Given the description of an element on the screen output the (x, y) to click on. 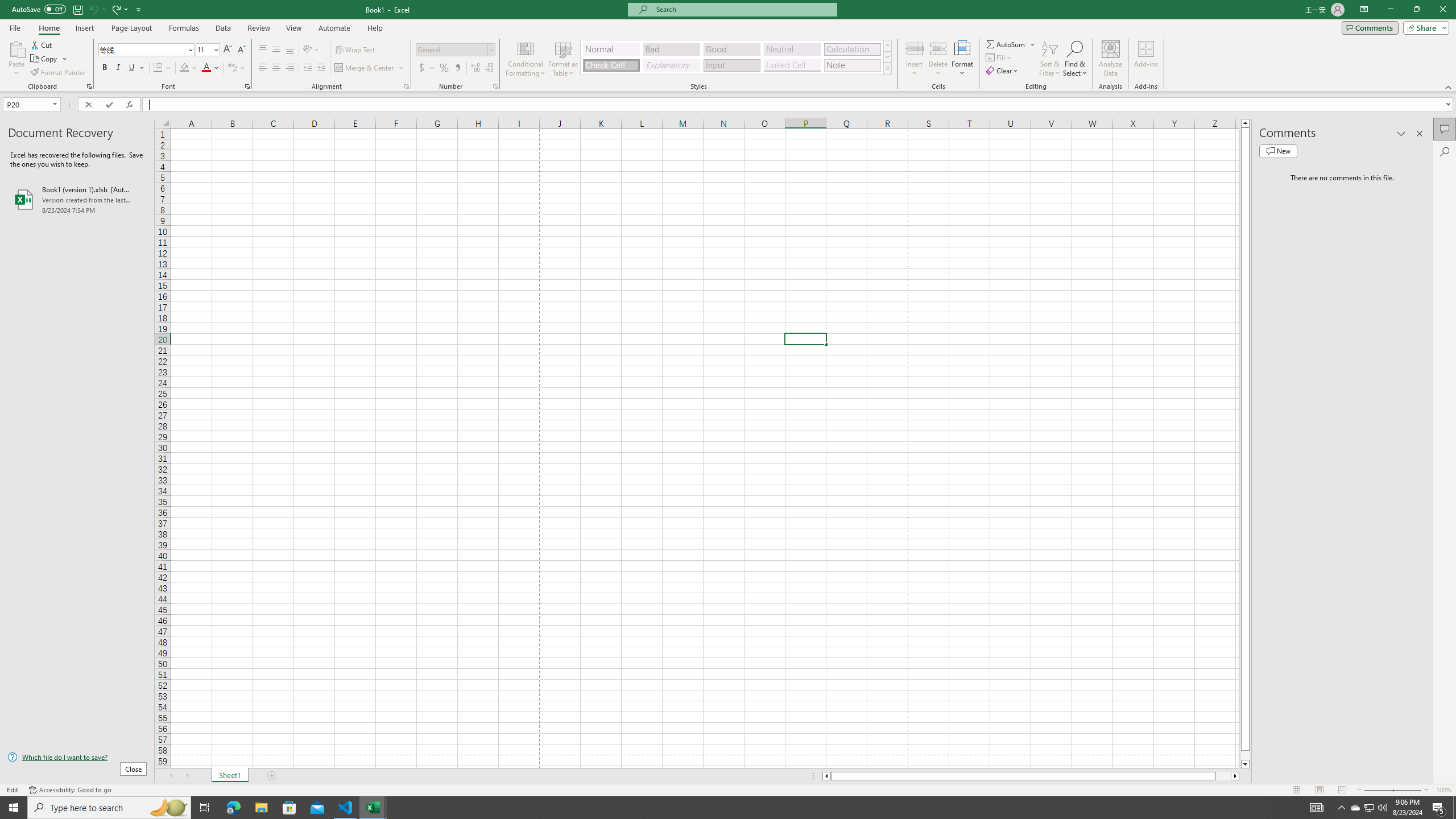
New comment (1278, 151)
Format Painter (58, 72)
Format Cell Alignment (405, 85)
Share (1423, 27)
More Options (1033, 44)
Class: NetUIImage (887, 68)
Copy (45, 58)
Restore Down (1416, 9)
Clear (1003, 69)
Column left (826, 775)
Comments (1369, 27)
Task Pane Options (1400, 133)
Search (1444, 151)
